Given the description of an element on the screen output the (x, y) to click on. 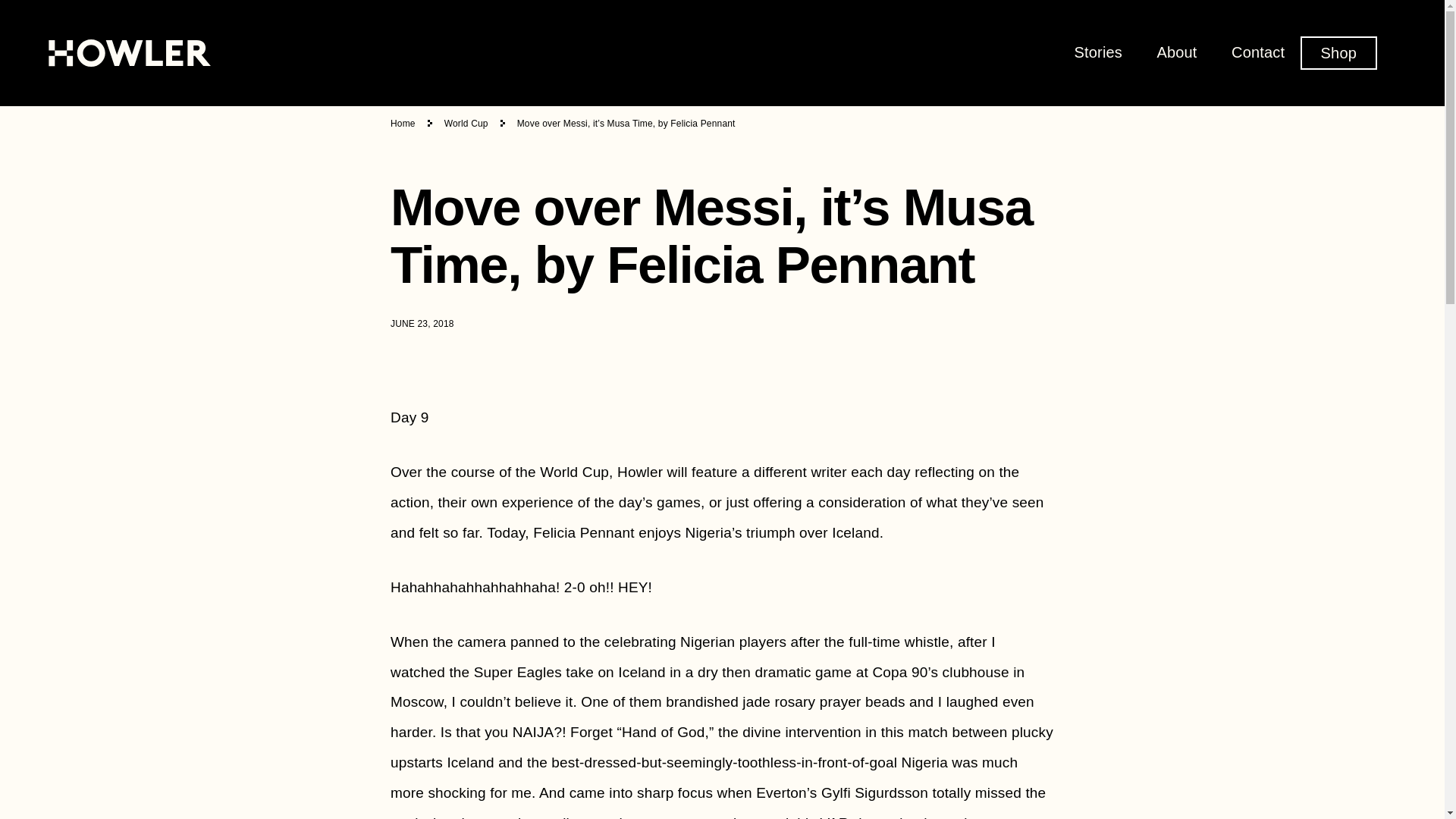
Stories (1098, 52)
Contact (1257, 52)
Shop (1338, 51)
Home (402, 122)
About (1176, 52)
World Cup (465, 122)
